Given the description of an element on the screen output the (x, y) to click on. 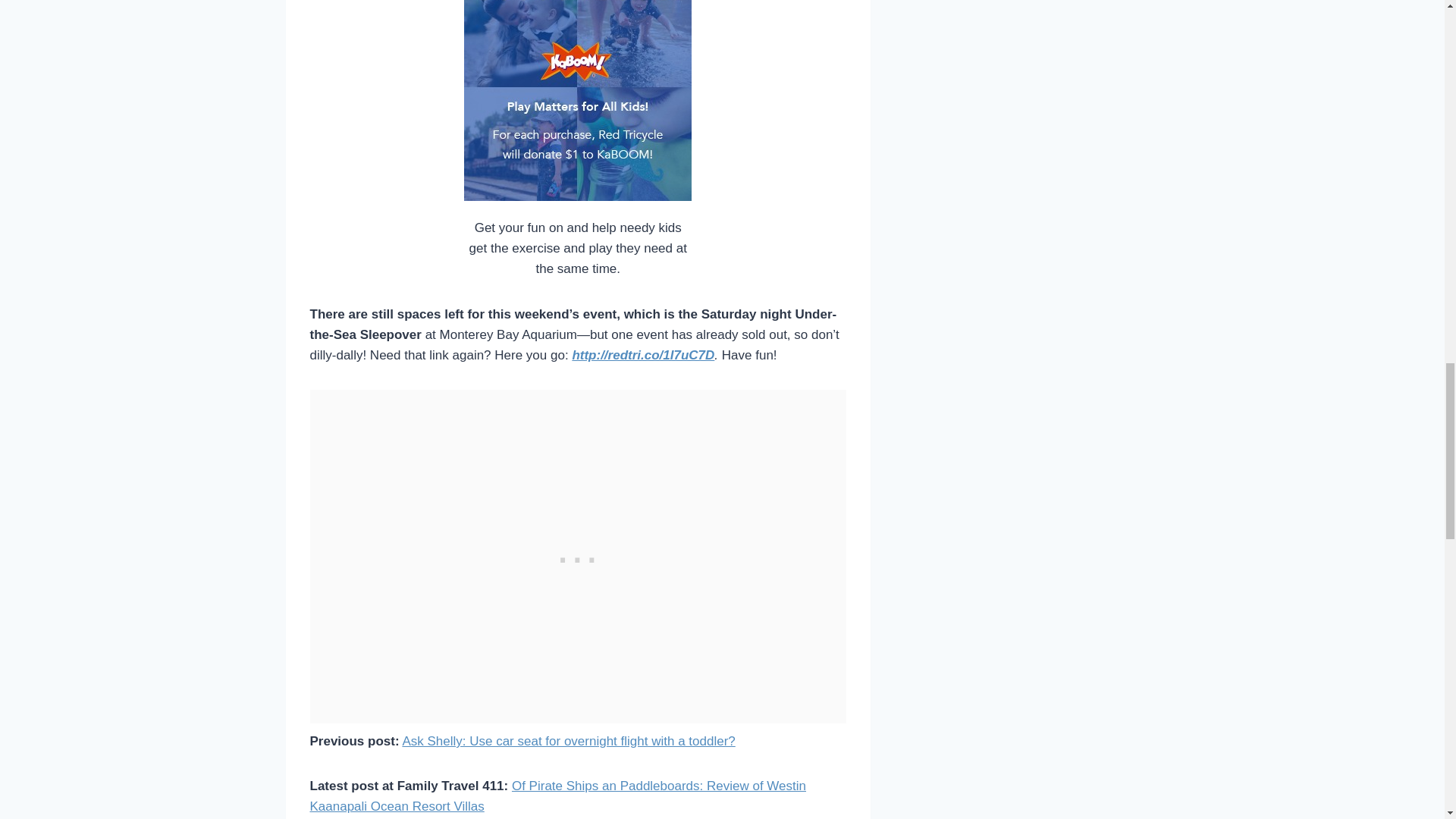
12 weeks of Awesome (577, 100)
